Given the description of an element on the screen output the (x, y) to click on. 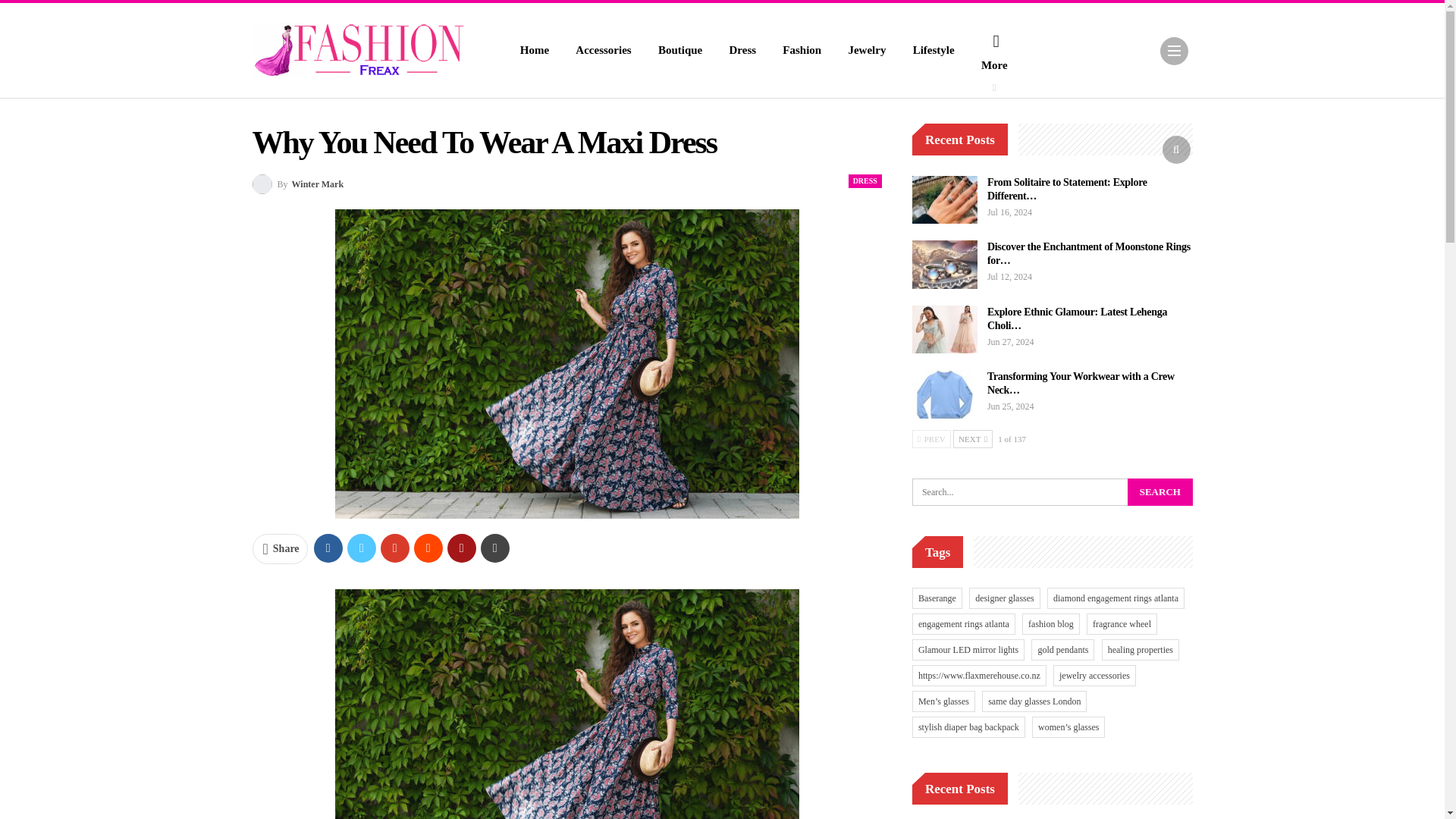
Browse Author Articles (297, 183)
Search (1159, 492)
Search (1159, 492)
Discover the Enchantment of Moonstone Rings for Your Wedding (944, 264)
By Winter Mark (297, 183)
DRESS (865, 181)
